Given the description of an element on the screen output the (x, y) to click on. 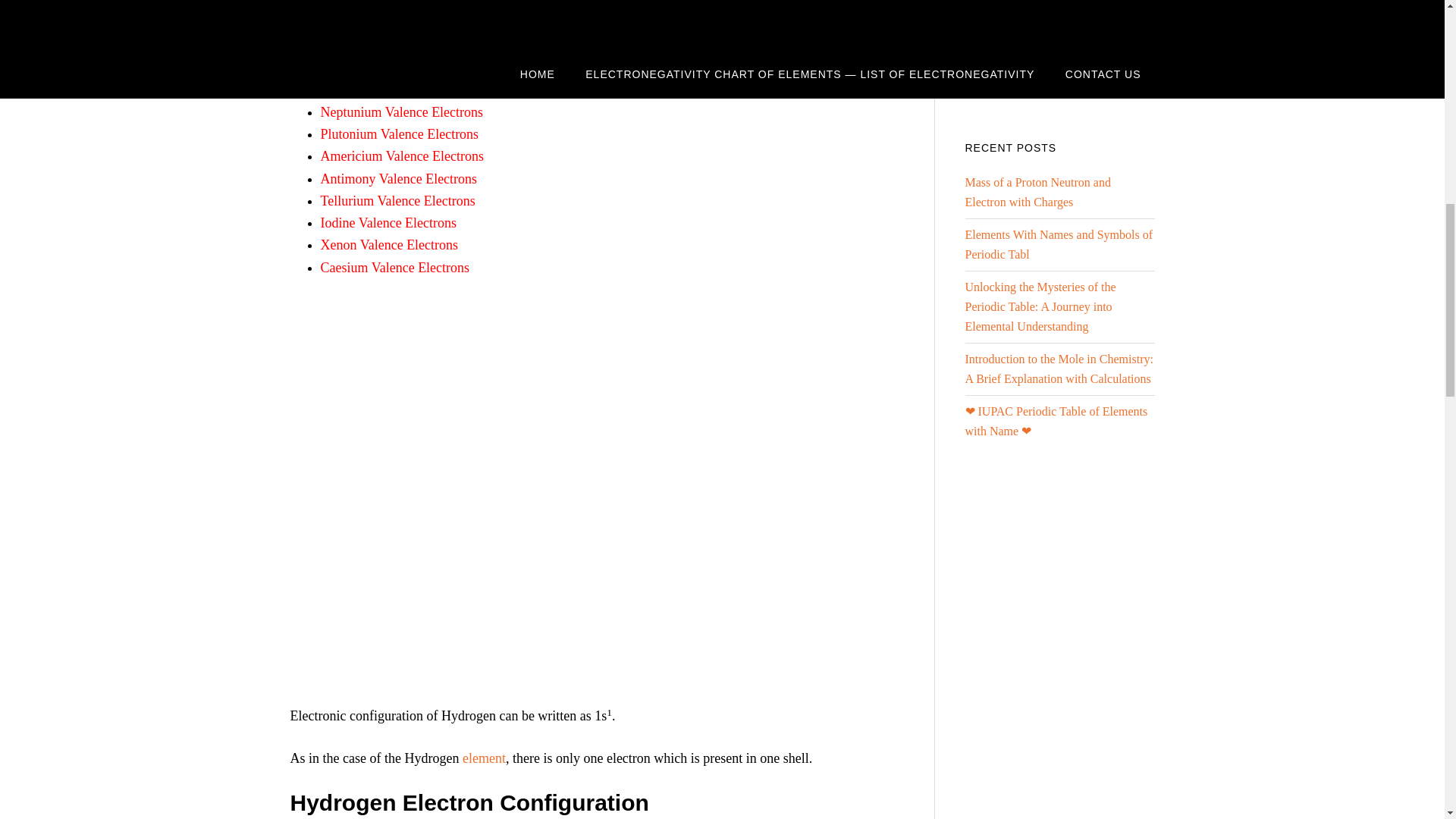
Oganesson Valence Electrons (400, 89)
Caesium Valence Electrons (394, 267)
Tennessine Valence Electrons (400, 67)
element (484, 758)
Americium Valence Electrons (401, 155)
Moscovium Valence Electrons (403, 23)
Antimony Valence Electrons (398, 178)
Livermorium Valence Electrons (407, 45)
Plutonium Valence Electrons (399, 133)
Neptunium Valence Electrons (401, 111)
Tellurium Valence Electrons (397, 200)
Flerovium Valence Electrons (399, 4)
Xenon Valence Electrons (389, 244)
Iodine Valence Electrons (388, 222)
